Given the description of an element on the screen output the (x, y) to click on. 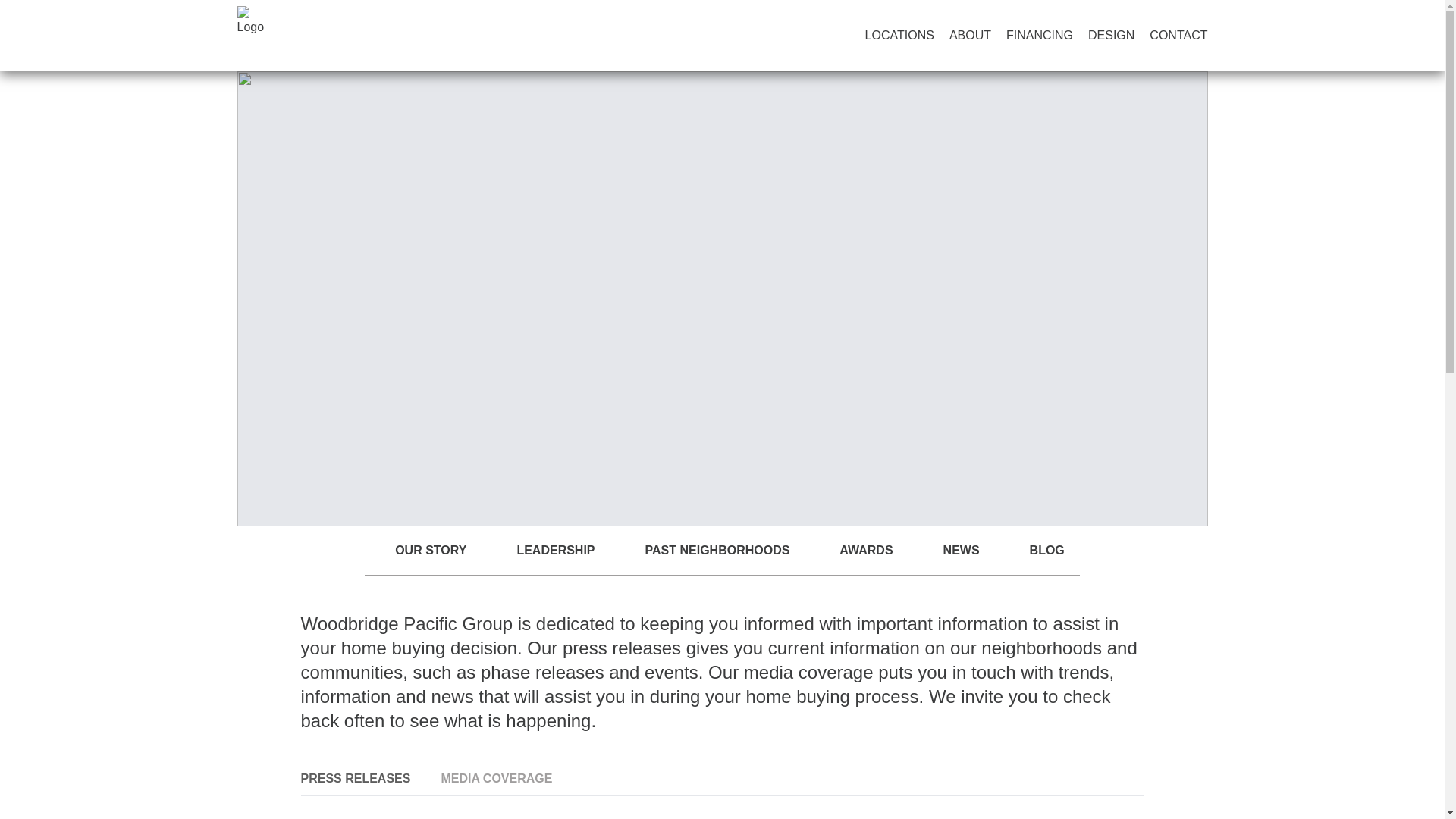
BLOG (1046, 556)
LEADERSHIP (555, 556)
FINANCING (1039, 35)
PAST NEIGHBORHOODS (717, 556)
Customer Care (1128, 8)
OUR STORY (429, 556)
LOCATIONS (721, 550)
NEWS (899, 35)
DESIGN (961, 556)
ABOUT (1110, 35)
AWARDS (970, 35)
